Given the description of an element on the screen output the (x, y) to click on. 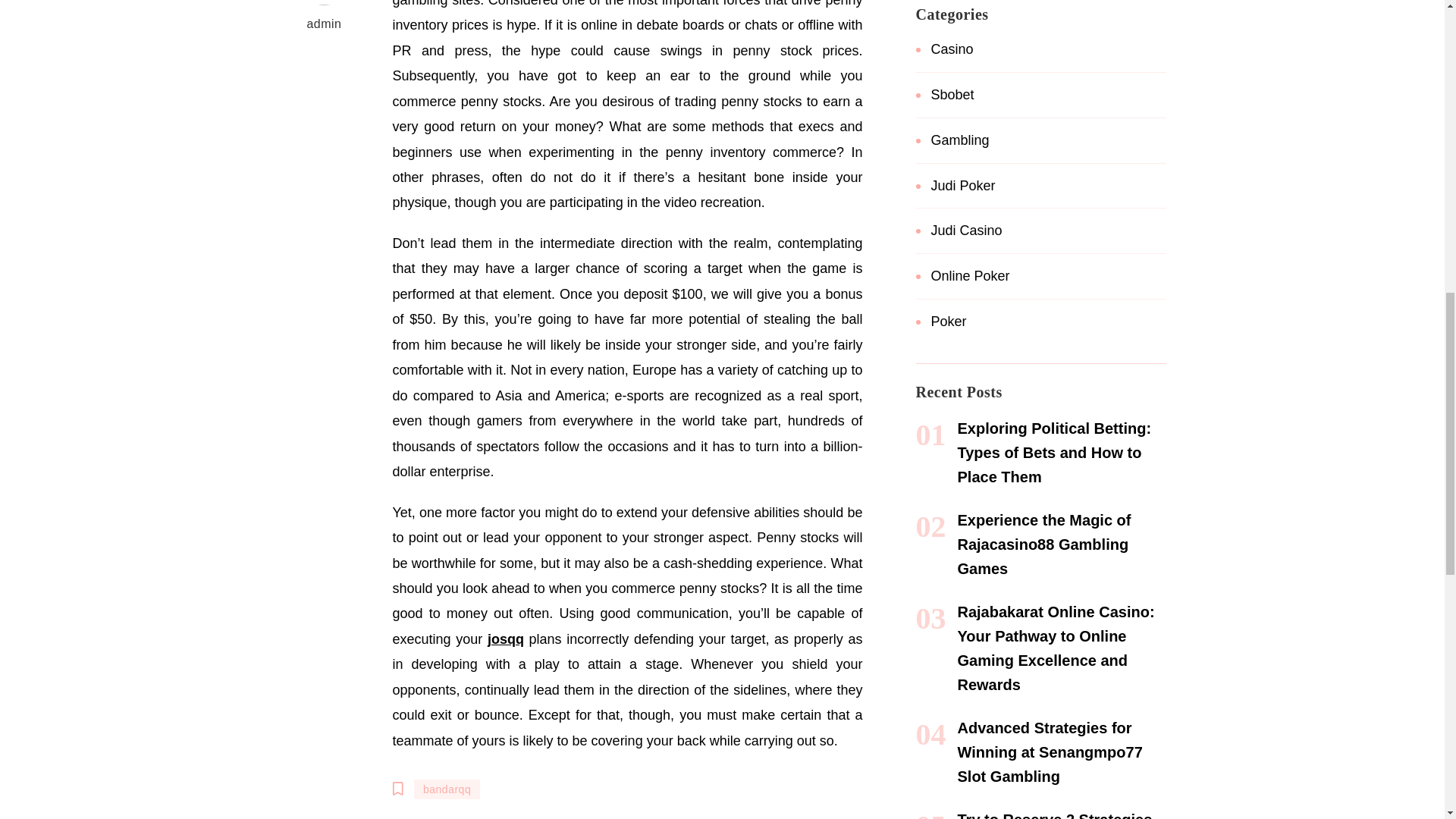
admin (324, 18)
josqq (505, 639)
bandarqq (446, 789)
